Given the description of an element on the screen output the (x, y) to click on. 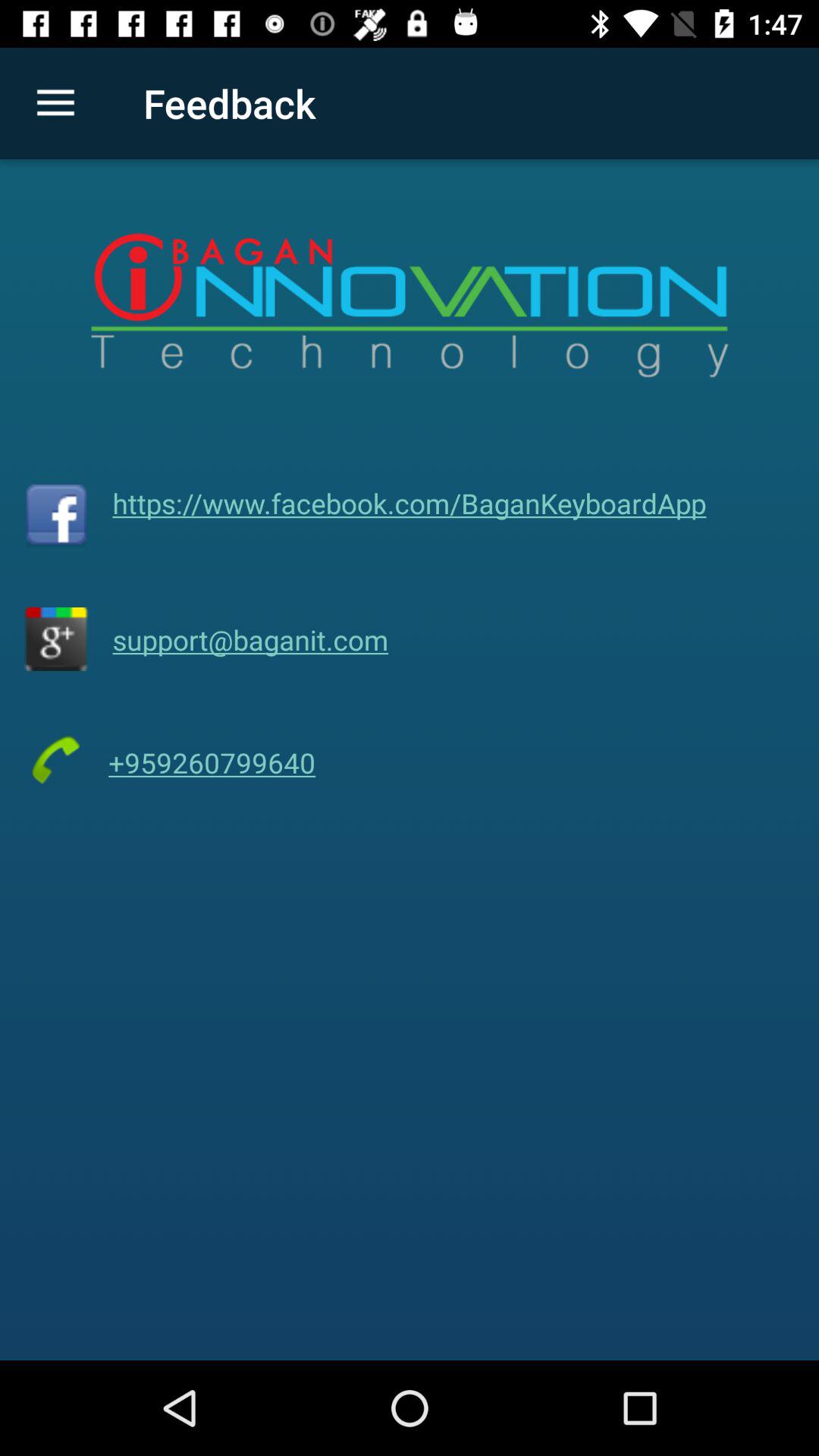
tap support@baganit.com icon (250, 639)
